Given the description of an element on the screen output the (x, y) to click on. 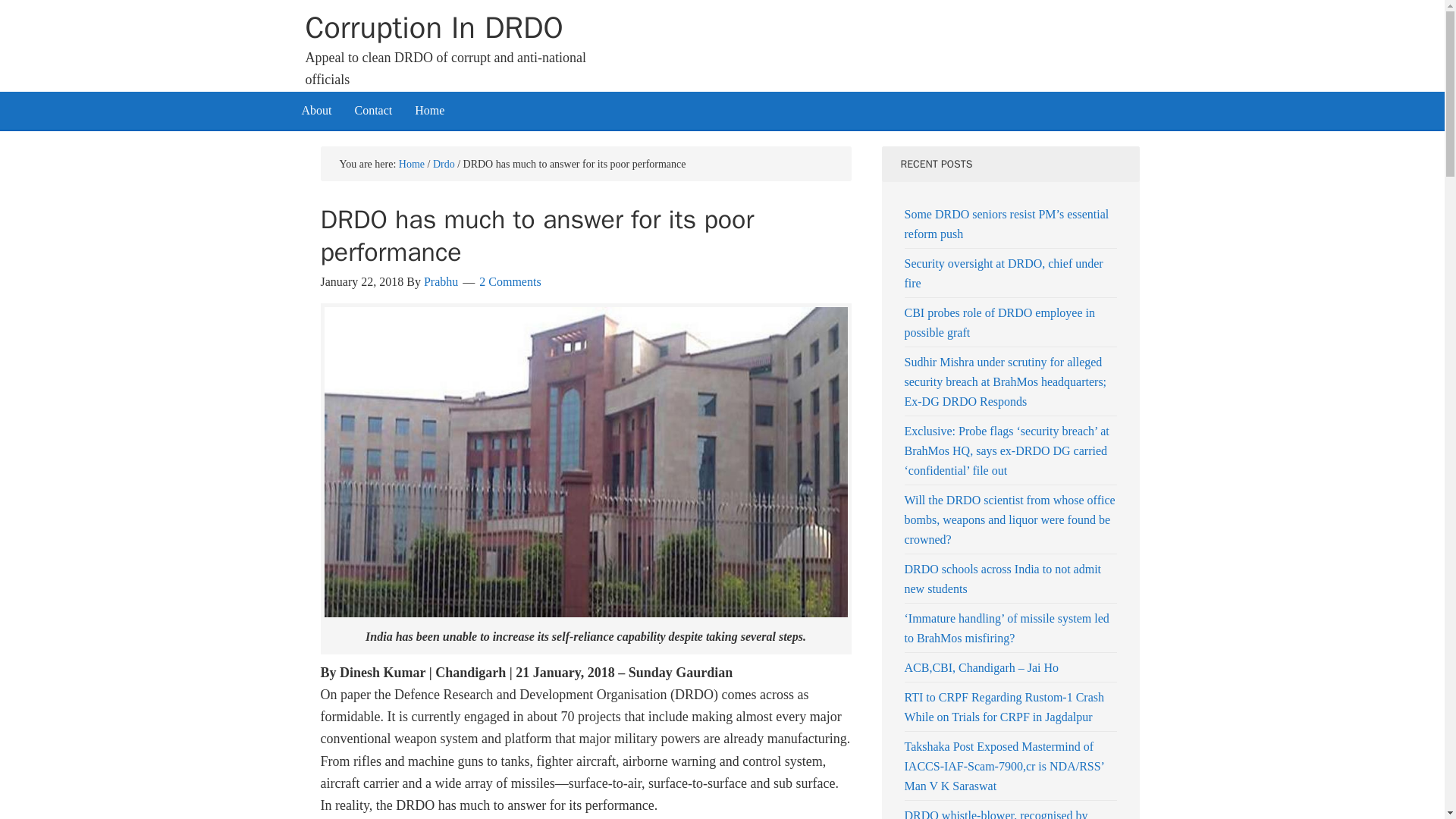
About (315, 109)
Prabhu (440, 281)
2 Comments (509, 281)
Drdo (443, 163)
Corruption In DRDO (433, 27)
DRDO schools across India to not admit new students (1002, 578)
Home (411, 163)
Contact (372, 109)
Home (429, 109)
Security oversight at DRDO, chief under fire (1003, 273)
CBI probes role of DRDO employee in possible graft (999, 322)
